Given the description of an element on the screen output the (x, y) to click on. 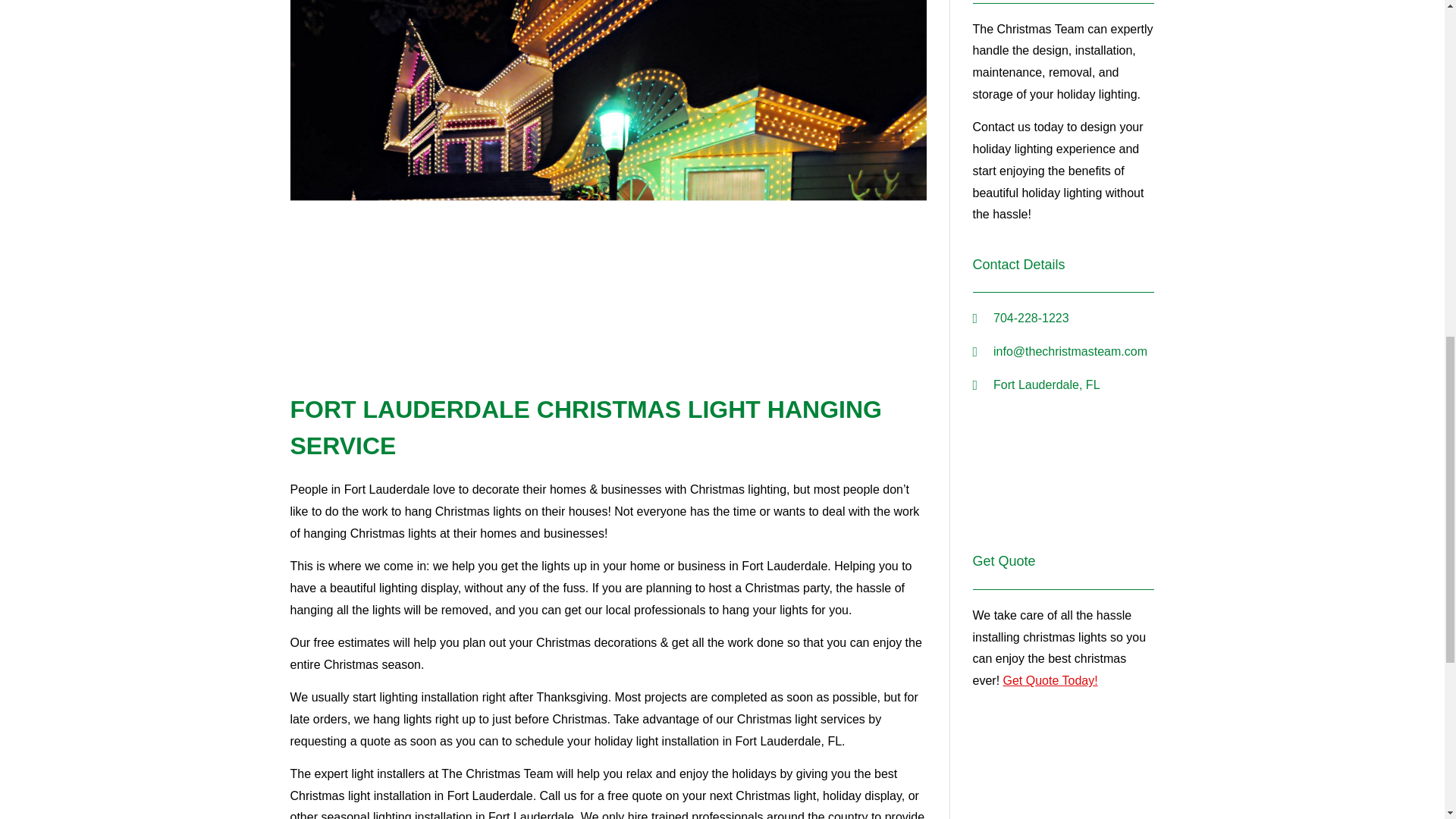
Fort Lauderdale, FL (1063, 476)
Get Quote Today! (1050, 680)
704-228-1223 (1063, 318)
